Given the description of an element on the screen output the (x, y) to click on. 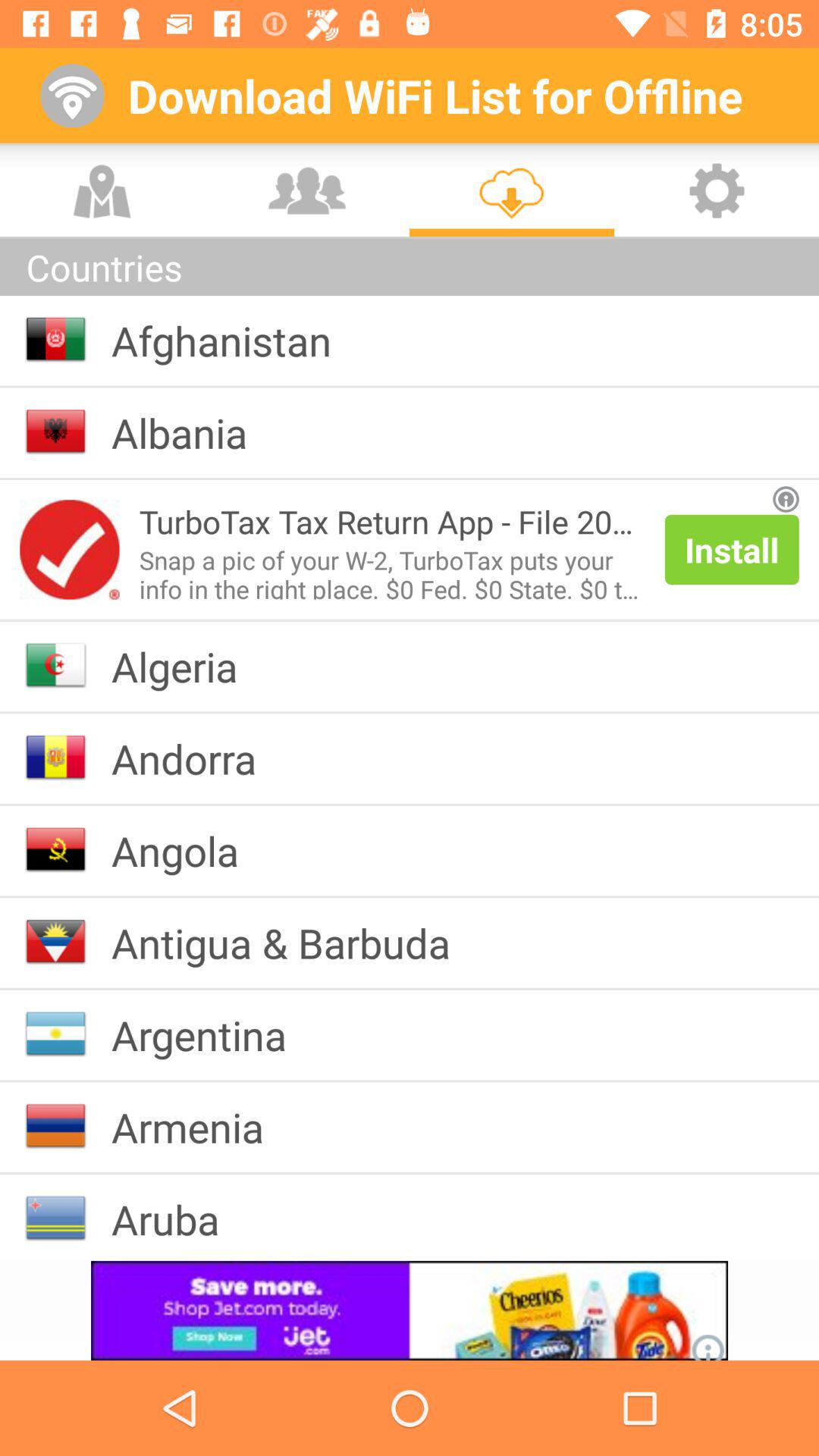
scroll to turbotax tax return (391, 521)
